Given the description of an element on the screen output the (x, y) to click on. 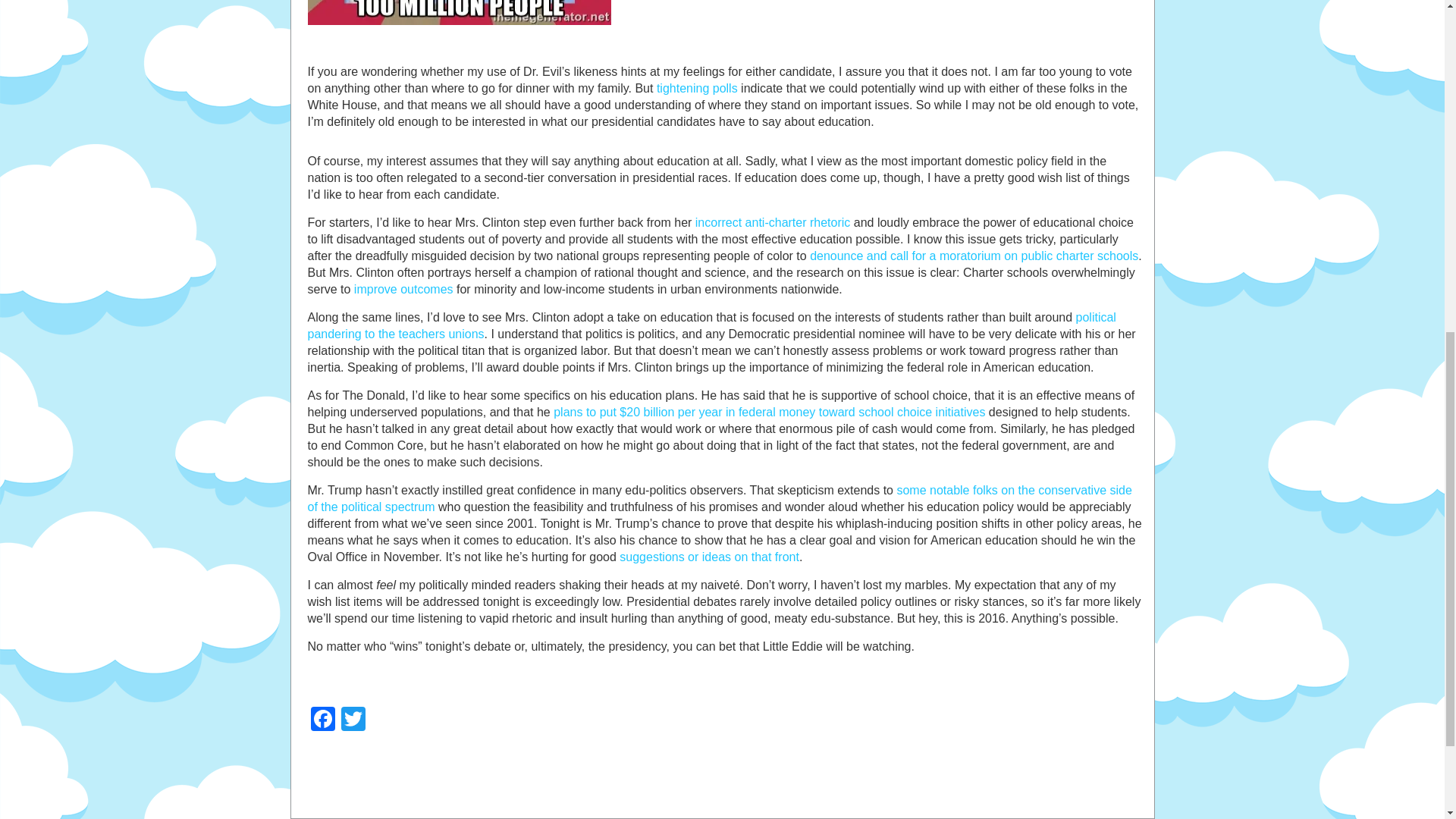
tightening polls (697, 88)
Twitter (352, 720)
political pandering to the teachers unions (711, 325)
Facebook (322, 720)
denounce and call for a moratorium on public charter schools (973, 255)
suggestions or ideas on that front (709, 556)
improve outcomes (402, 288)
incorrect anti-charter rhetoric (772, 222)
Facebook (322, 720)
Twitter (352, 720)
